Given the description of an element on the screen output the (x, y) to click on. 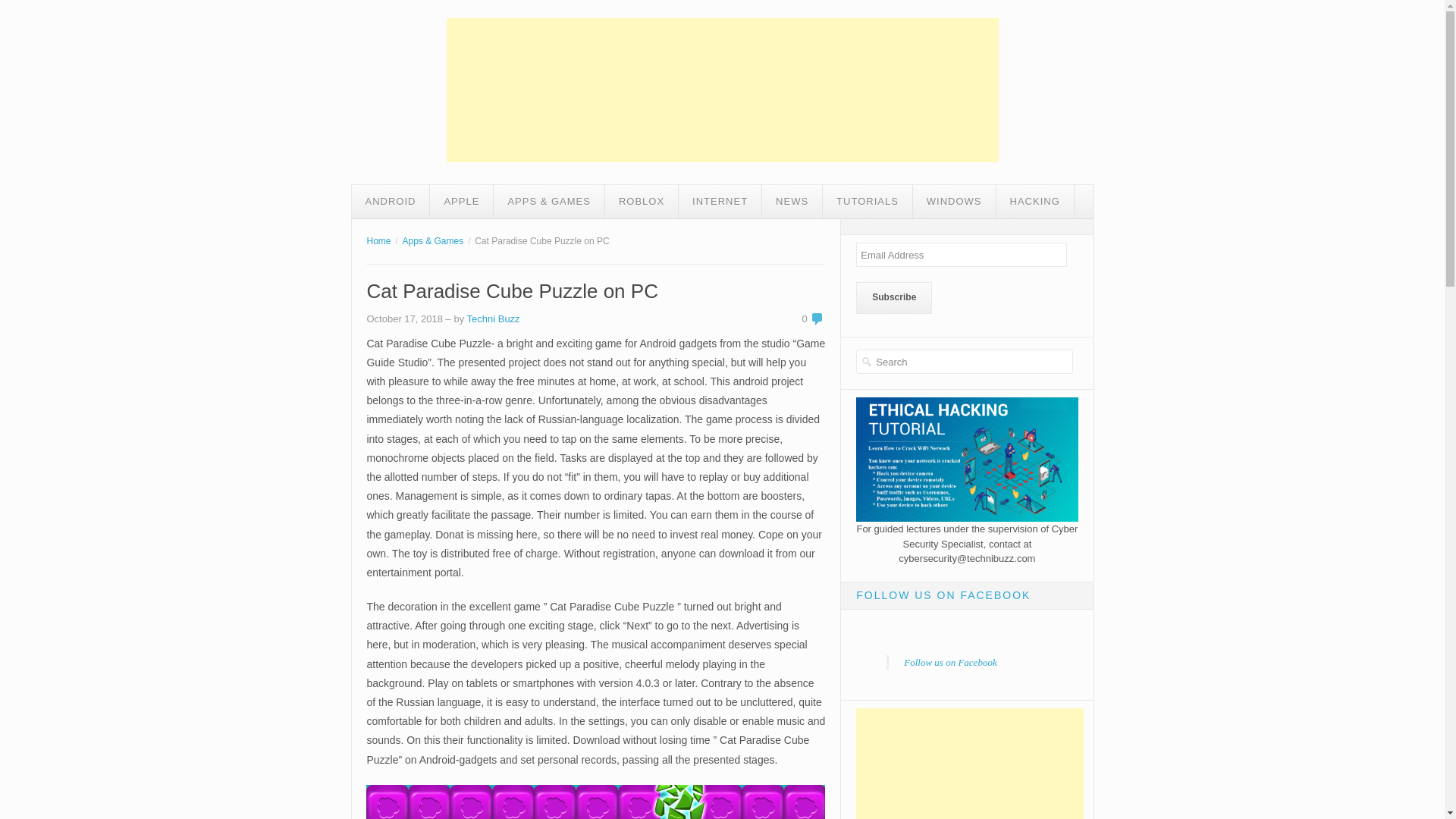
Home (378, 240)
ANDROID (391, 201)
TUTORIALS (867, 201)
Techni Buzz (493, 318)
NEWS (791, 201)
APPLE (461, 201)
WINDOWS (953, 201)
ROBLOX (641, 201)
INTERNET (719, 201)
HACKING (1034, 201)
